Given the description of an element on the screen output the (x, y) to click on. 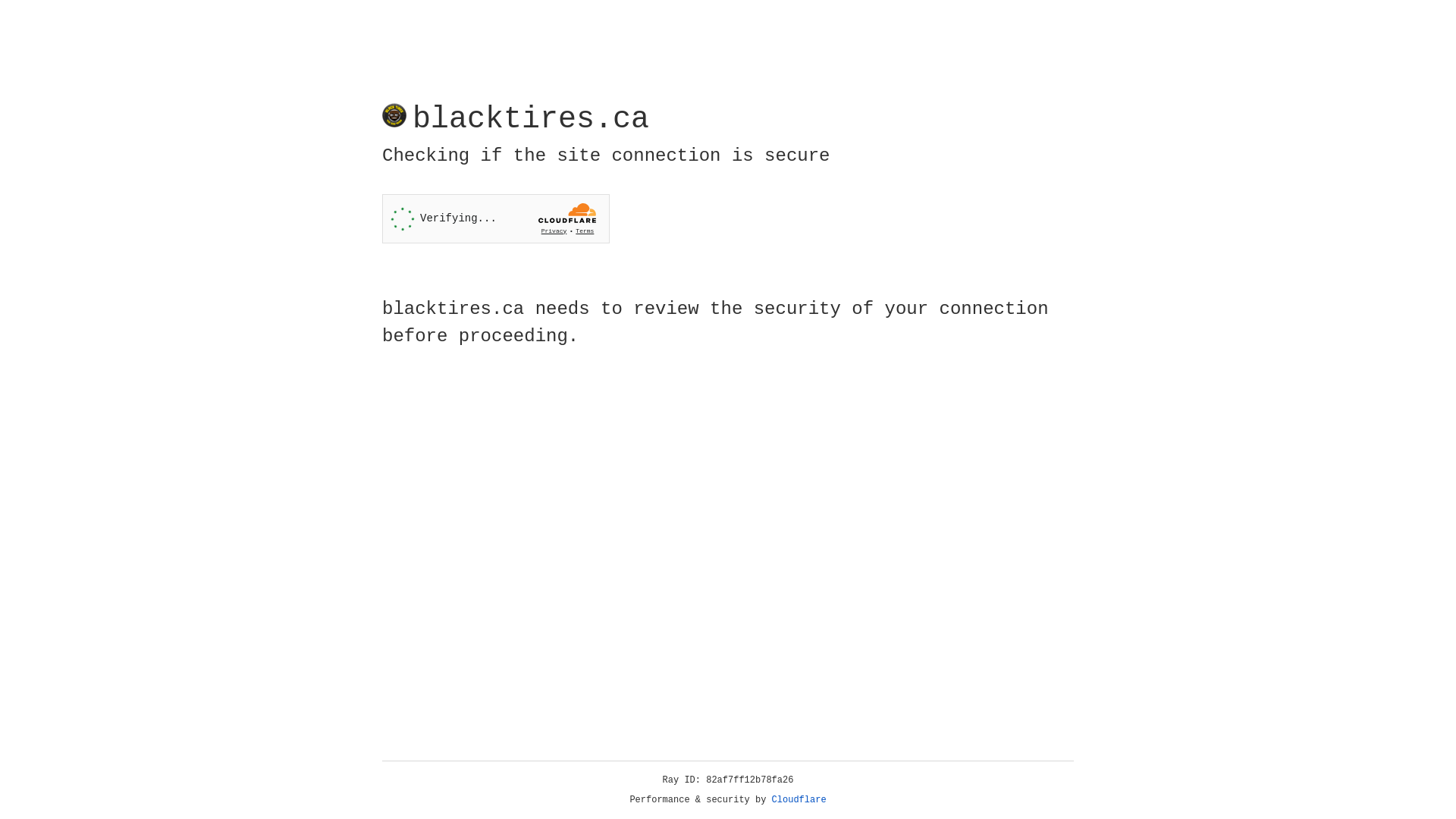
Cloudflare Element type: text (798, 799)
Widget containing a Cloudflare security challenge Element type: hover (495, 218)
